Given the description of an element on the screen output the (x, y) to click on. 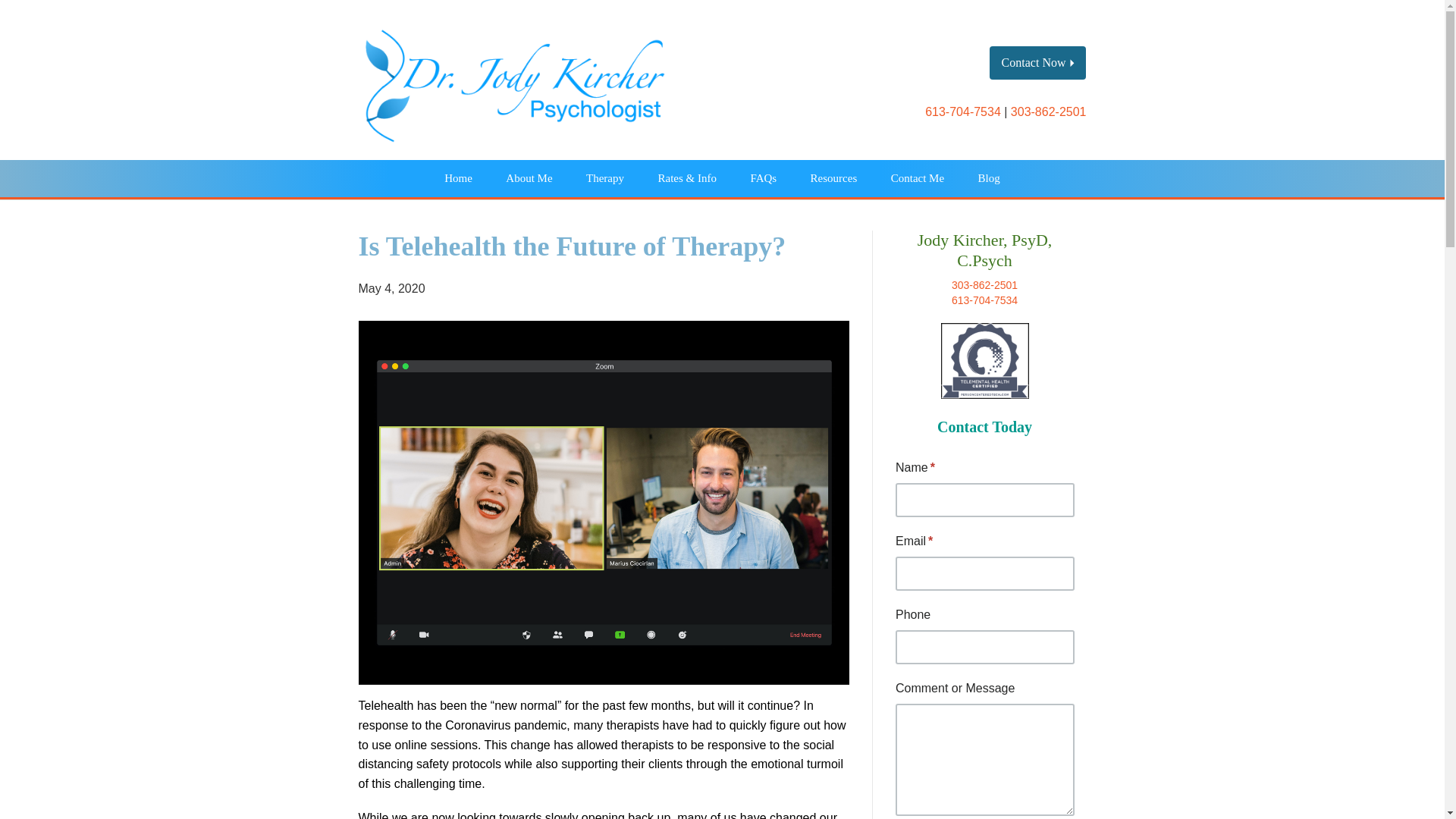
Blog (988, 178)
613-704-7534 (984, 300)
Contact Now (1038, 62)
Contact Me (917, 178)
FAQs (763, 178)
Resources (833, 178)
613-704-7534 (962, 111)
Home (458, 178)
Therapy (604, 178)
About Me (528, 178)
303-862-2501 (1048, 111)
303-862-2501 (984, 285)
